Given the description of an element on the screen output the (x, y) to click on. 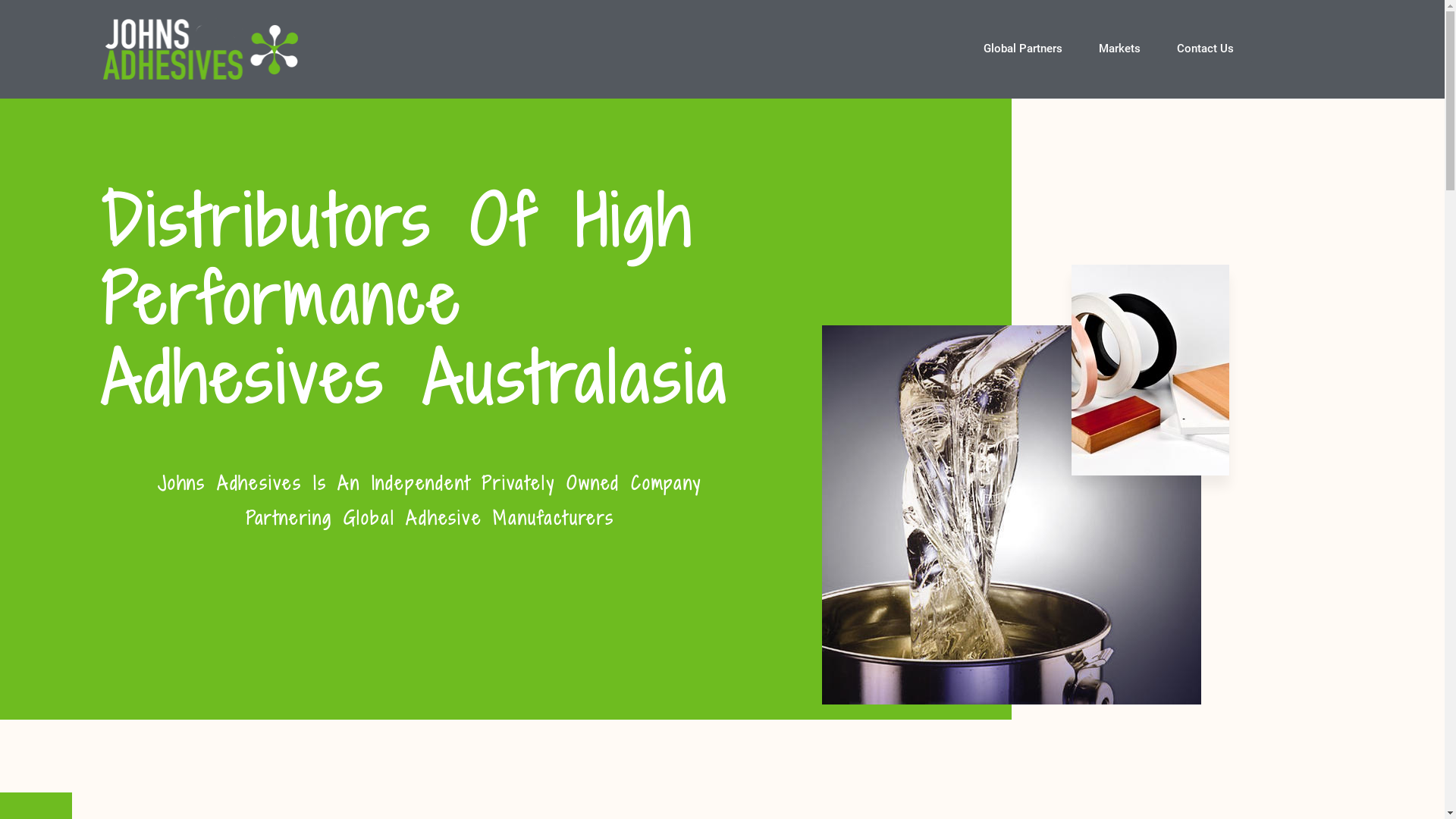
Markets Element type: text (1119, 48)
Global Partners Element type: text (1022, 48)
Contact Us Element type: text (1205, 48)
